Given the description of an element on the screen output the (x, y) to click on. 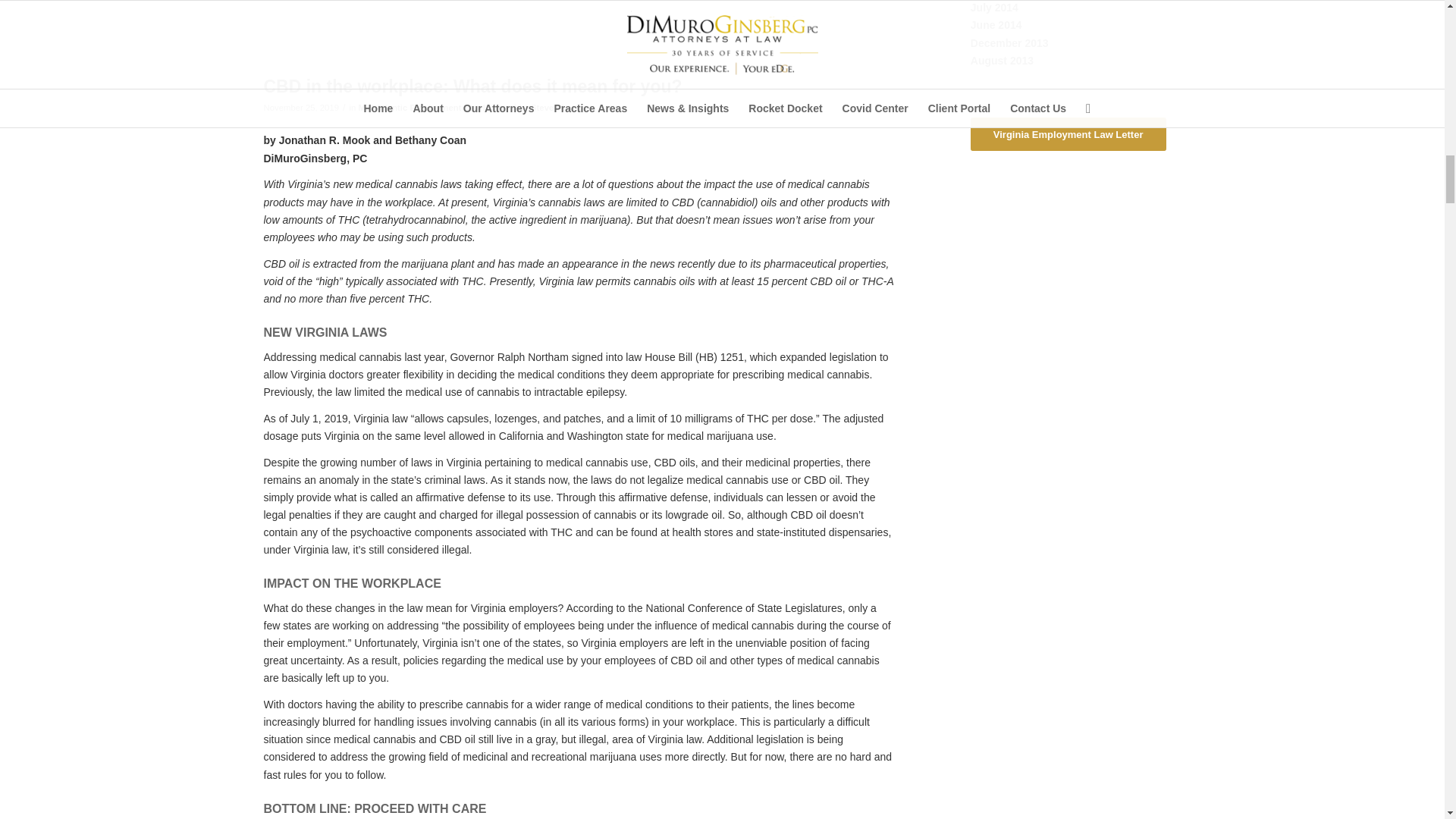
Posts by Steven Long (556, 107)
